Given the description of an element on the screen output the (x, y) to click on. 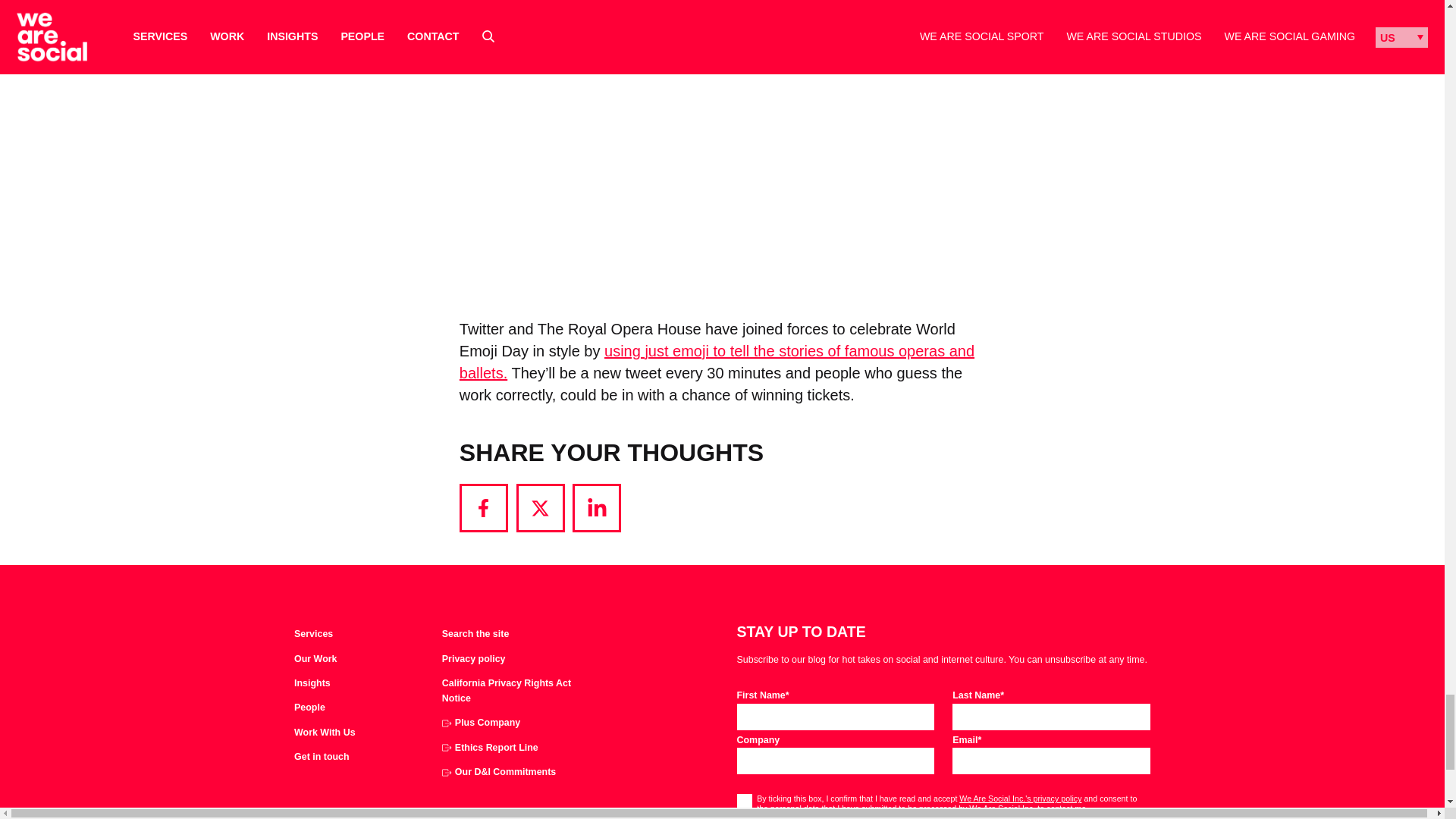
Share via Facebook (484, 508)
Insights (312, 683)
Share via Twitter (540, 508)
Services (313, 634)
Search the site (475, 634)
Get in Touch (321, 757)
Work (315, 659)
Share via Facebook (484, 508)
Share via LinkedIn (596, 508)
Share via Twitter (540, 508)
Share via LinkedIn (596, 508)
About (309, 708)
Services (313, 634)
